Given the description of an element on the screen output the (x, y) to click on. 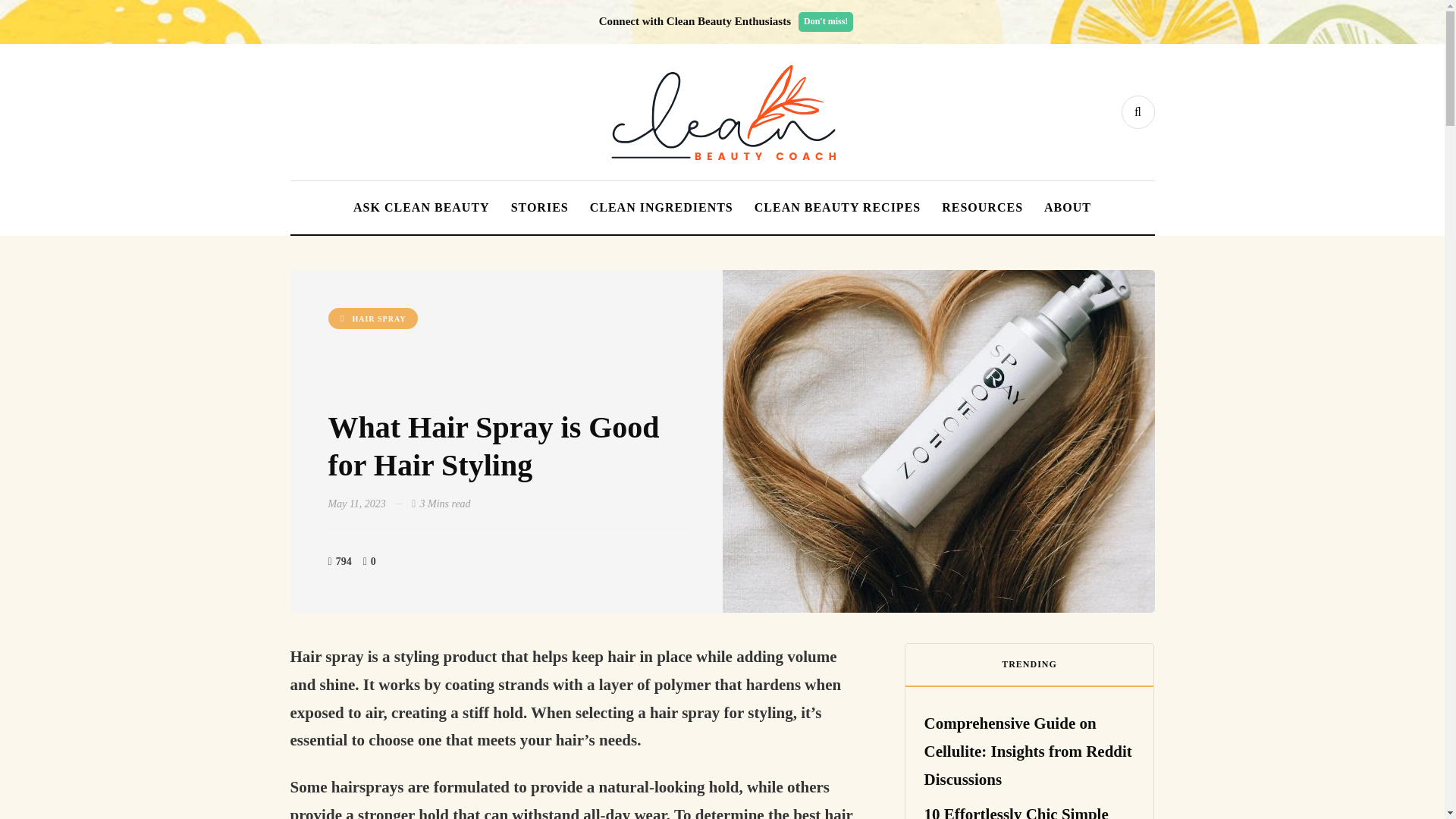
CLEAN INGREDIENTS (661, 207)
ASK CLEAN BEAUTY (421, 207)
CLEAN BEAUTY RECIPES (837, 207)
10 Effortlessly Chic Simple Outfit Ideas for Every Occasion (1015, 812)
Connect with Clean Beauty EnthusiastsDon't miss! (729, 21)
RESOURCES (982, 207)
STORIES (539, 207)
ABOUT (1067, 207)
HAIR SPRAY (371, 318)
